Given the description of an element on the screen output the (x, y) to click on. 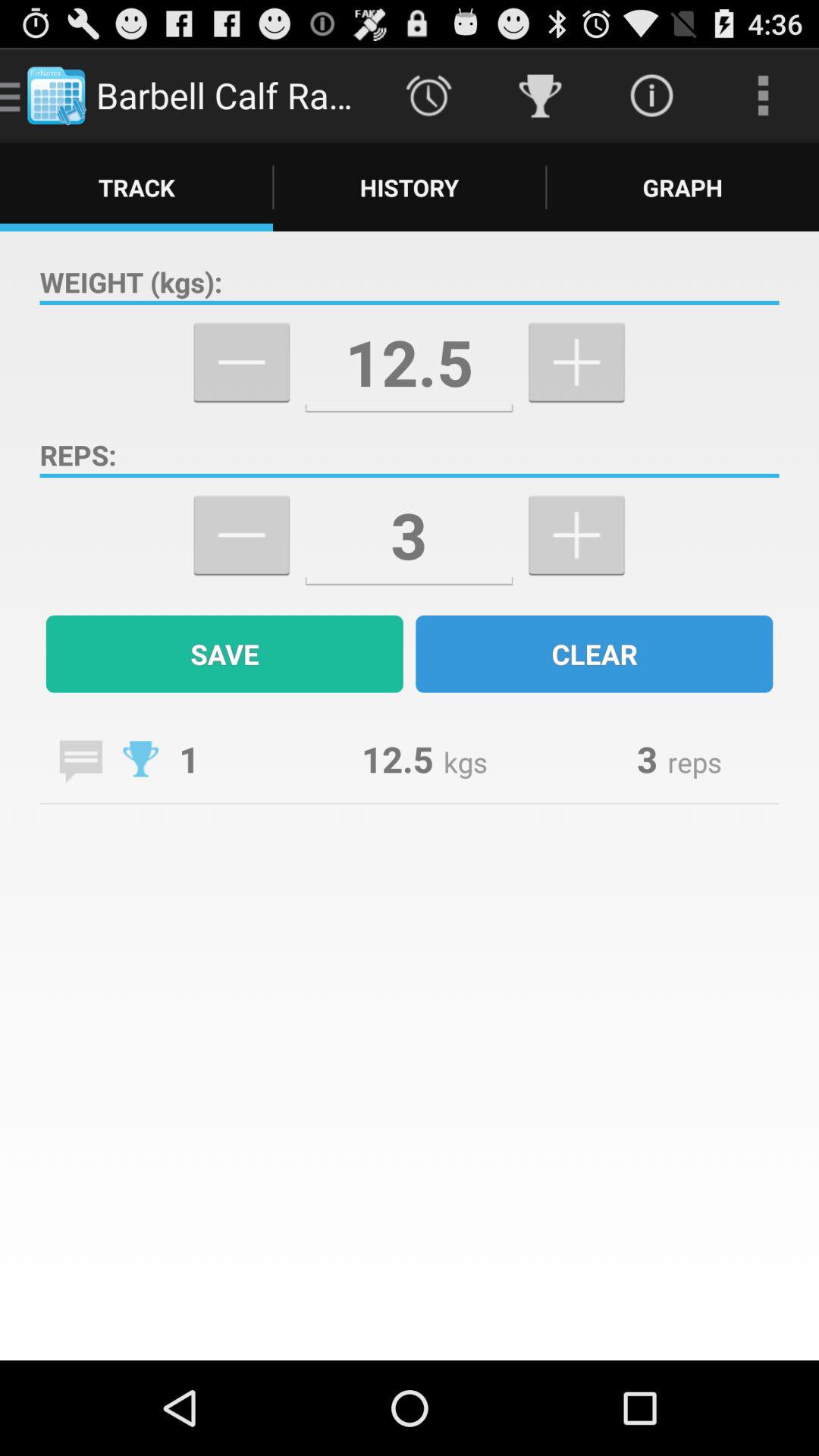
number of trophies (140, 758)
